Given the description of an element on the screen output the (x, y) to click on. 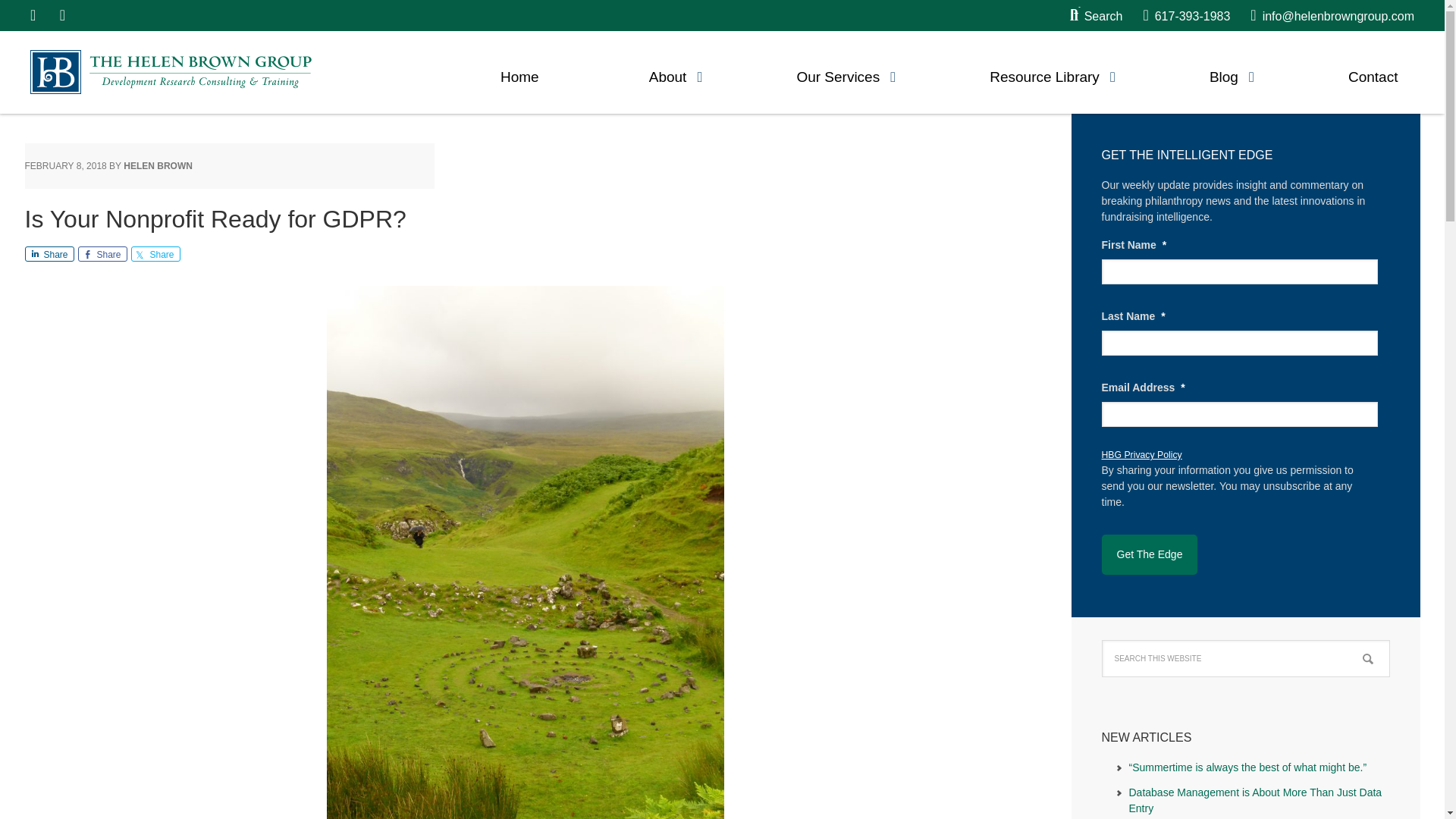
617-393-1983 (1186, 15)
Resource Library (1044, 72)
Search (1096, 16)
Helen Brown Group (170, 71)
Our Services (837, 72)
Get The Edge (1148, 554)
